Given the description of an element on the screen output the (x, y) to click on. 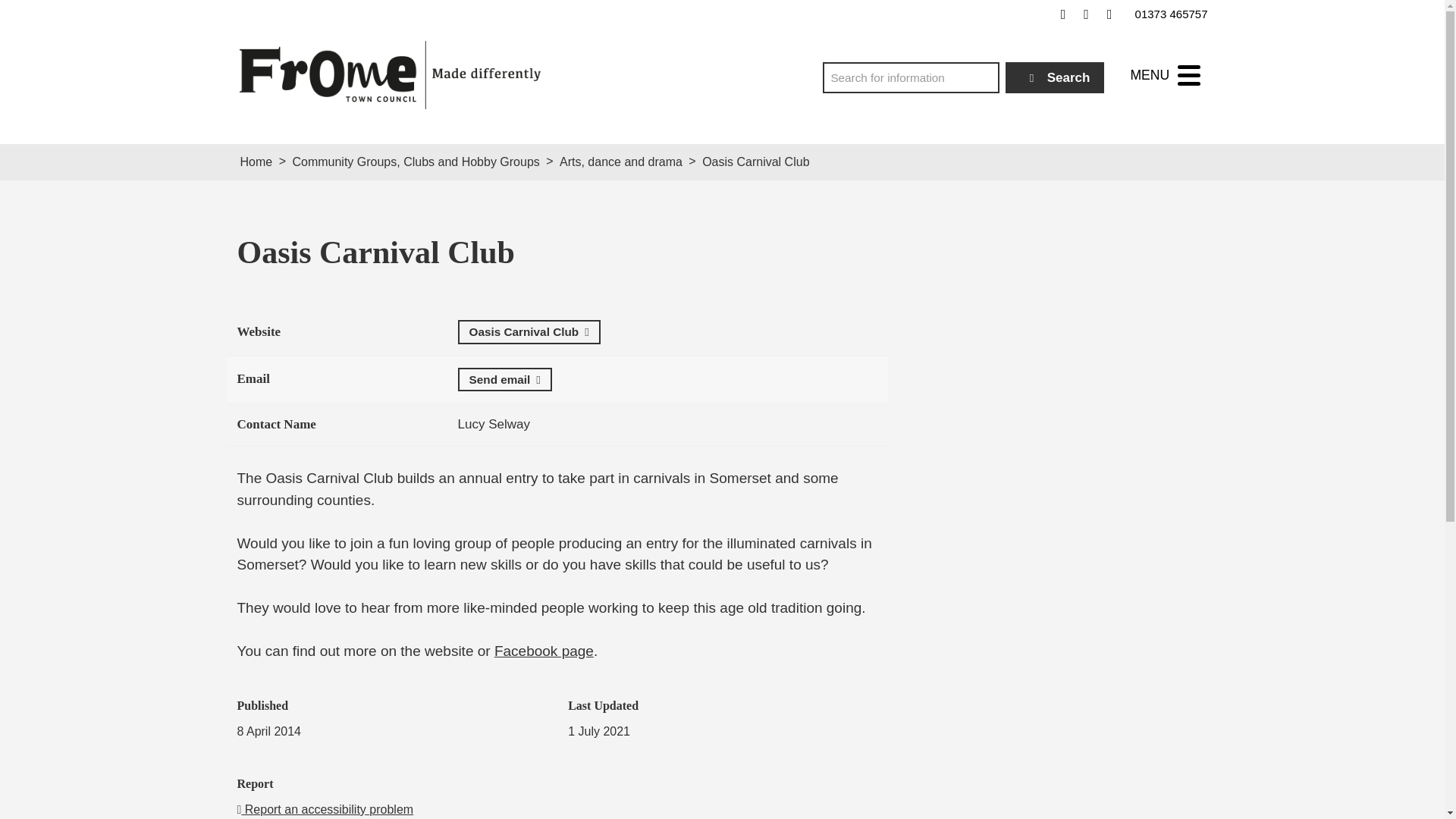
Frome Town Council's Facebook (1063, 13)
Frome Town Council's Instagram (1109, 13)
MENU (1164, 75)
Search (1055, 77)
Go to Home. (256, 161)
Frome Town Council's Twitter (1085, 13)
